Given the description of an element on the screen output the (x, y) to click on. 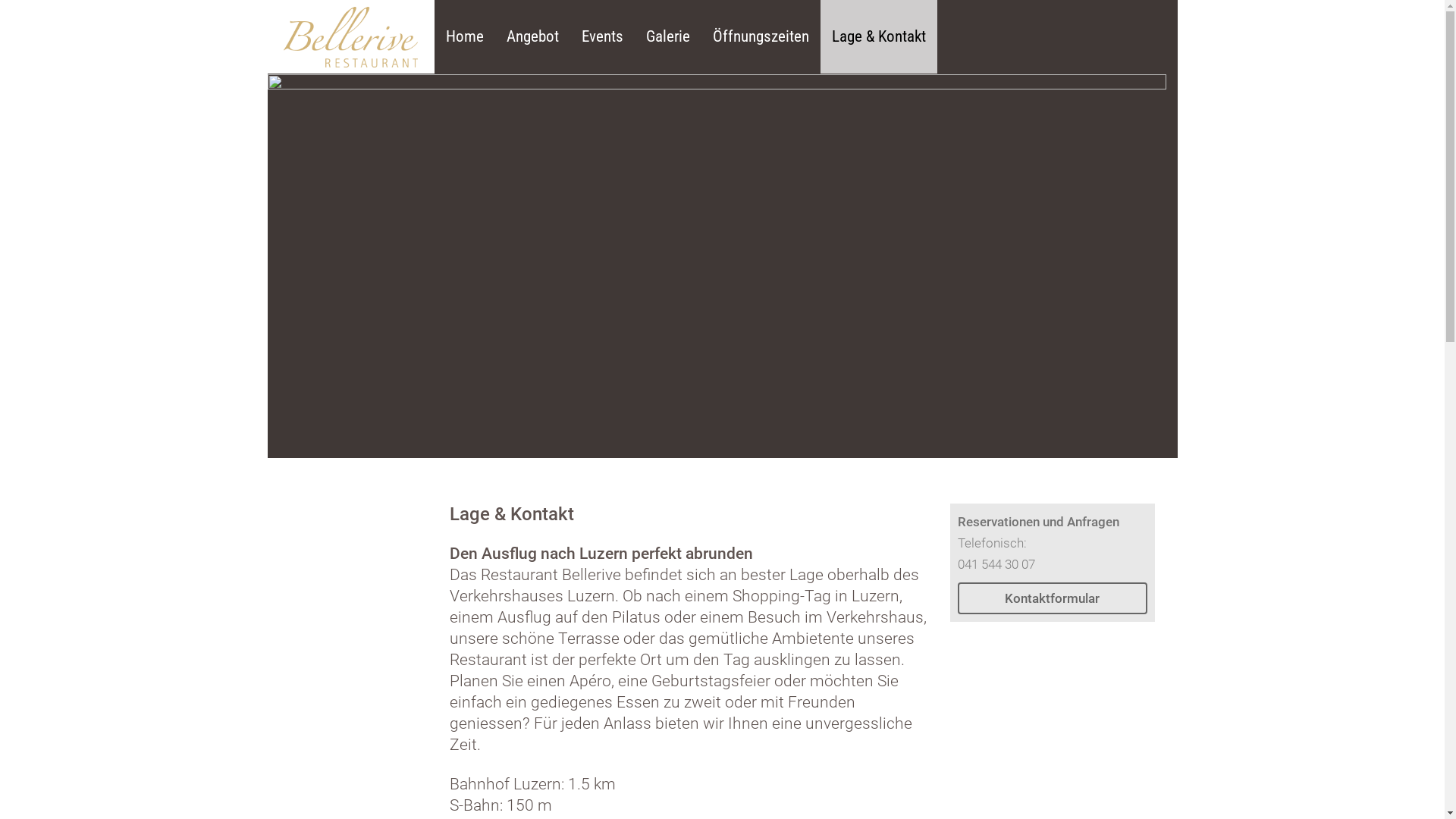
Back to top Element type: text (448, 503)
Direkt zum Inhalt Element type: text (0, 0)
Kontaktformular Element type: text (1051, 598)
Angebot Element type: text (531, 36)
Events Element type: text (602, 36)
Lage & Kontakt Element type: text (878, 36)
Back to top Element type: text (266, 480)
Galerie Element type: text (666, 36)
Home Element type: text (463, 36)
Startseite Element type: hover (349, 36)
